Given the description of an element on the screen output the (x, y) to click on. 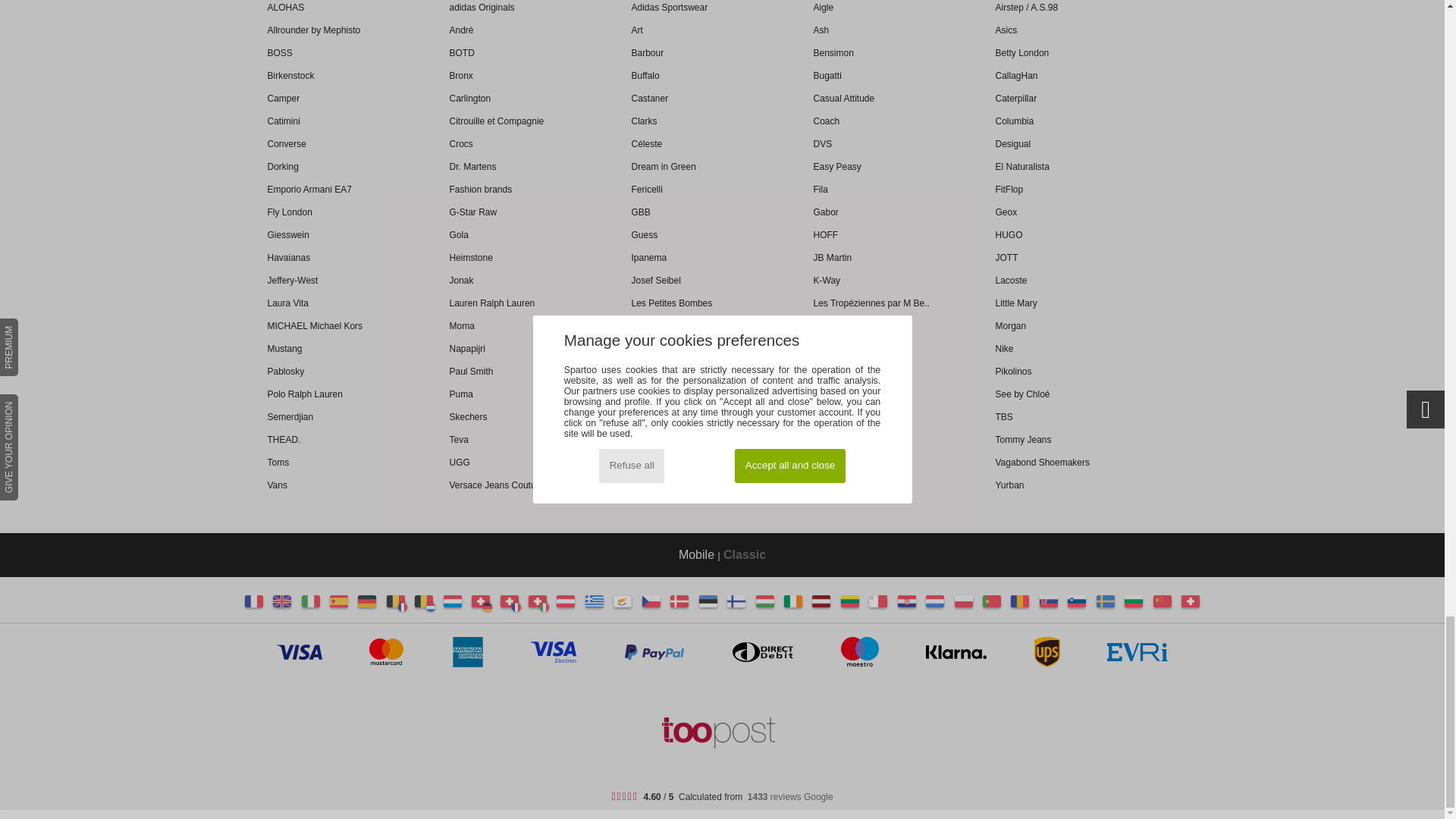
Suisse (516, 606)
Italia (310, 601)
Schweiz (487, 606)
United Kingdom (282, 601)
Suisse (509, 601)
Belgique (395, 601)
Schweiz (480, 601)
Luxembourg (452, 601)
Deutschland (366, 601)
Belgique (402, 606)
France (253, 601)
